Given the description of an element on the screen output the (x, y) to click on. 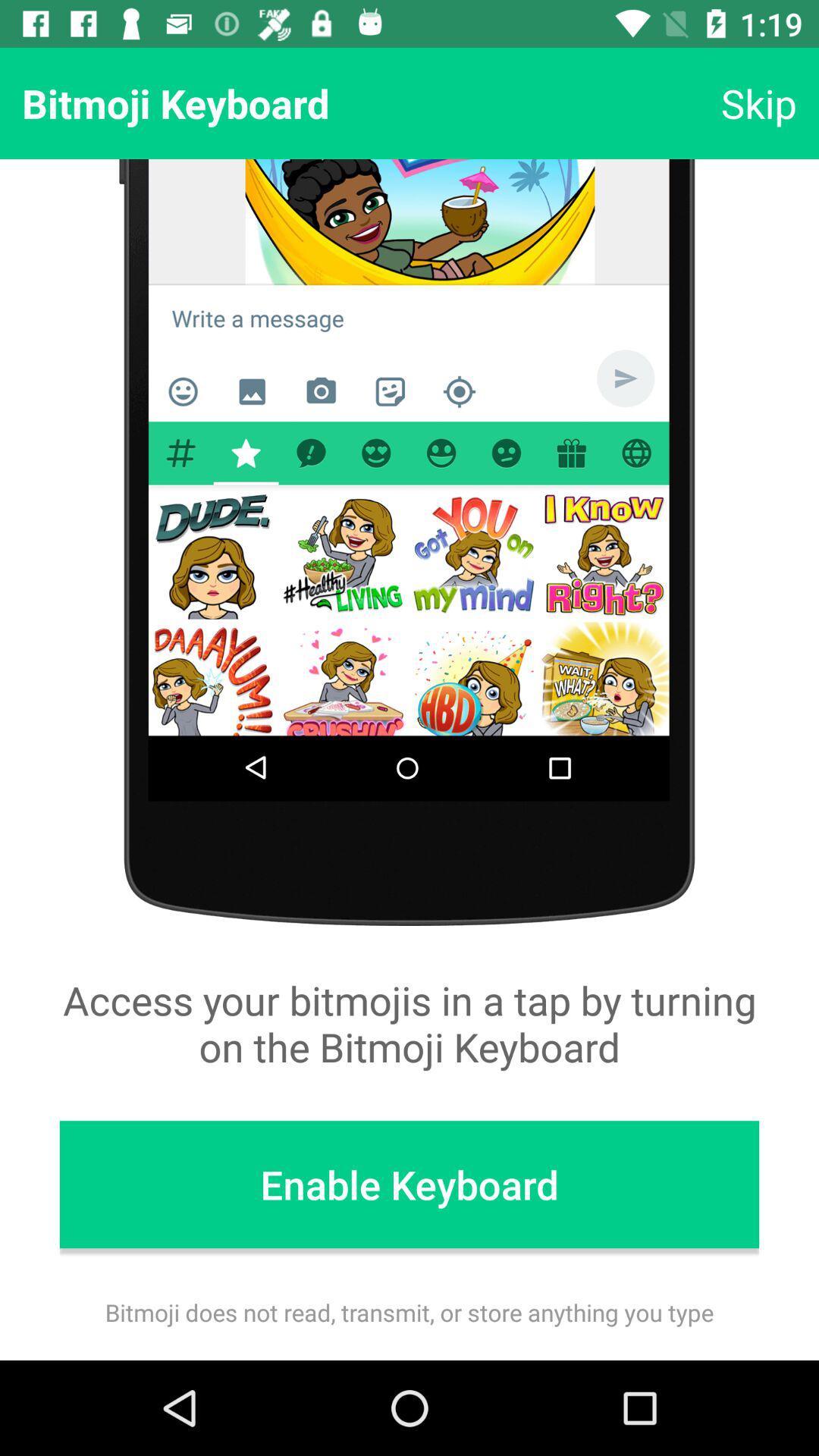
choose item to the right of bitmoji keyboard (758, 102)
